Given the description of an element on the screen output the (x, y) to click on. 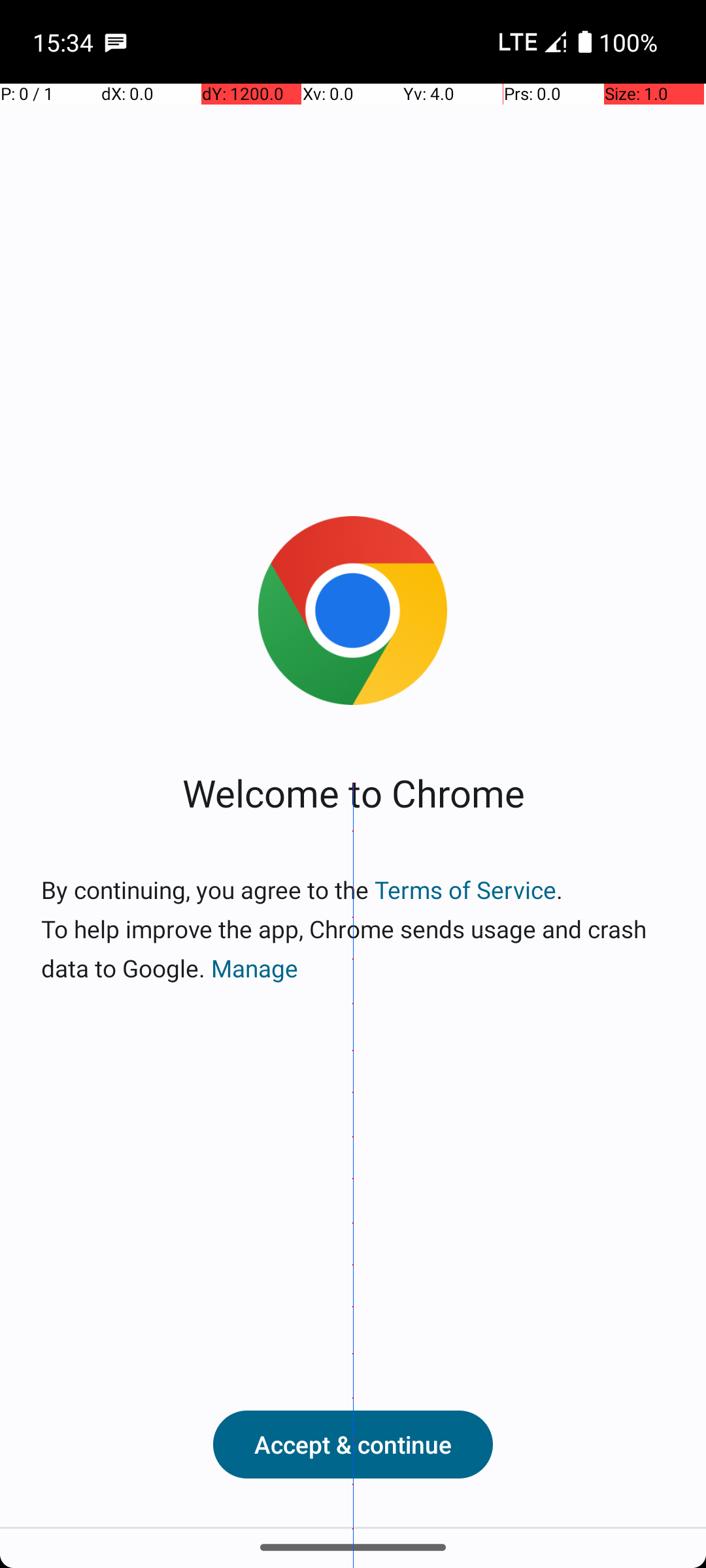
By continuing, you agree to the Terms of Service.
To help improve the app, Chrome sends usage and crash data to Google. Manage Element type: android.widget.TextView (352, 928)
SMS Messenger notification: +15505050843 Element type: android.widget.ImageView (115, 41)
